Given the description of an element on the screen output the (x, y) to click on. 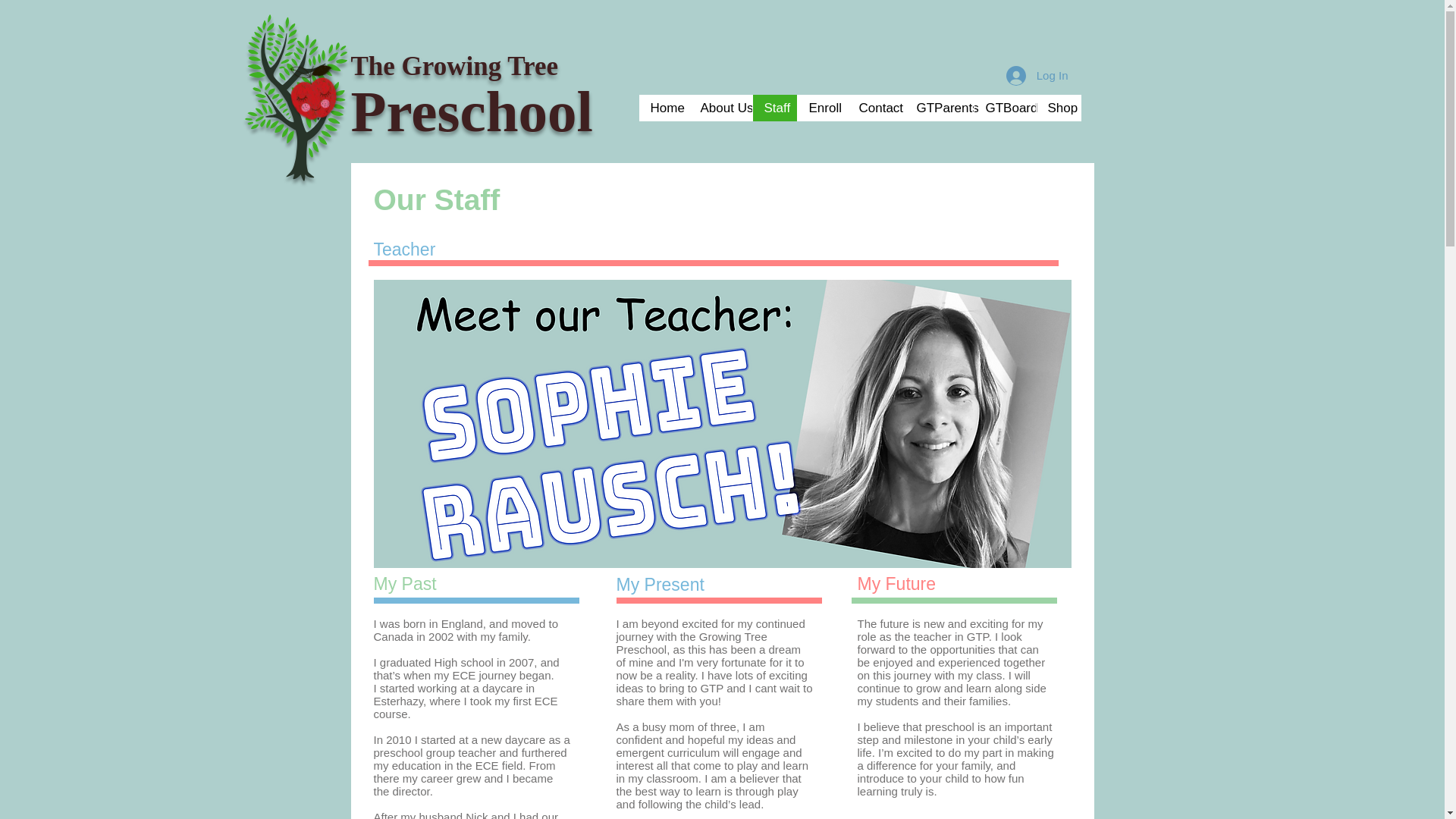
About Us (720, 108)
Enroll (820, 108)
Log In (1036, 74)
The Growing Tree (453, 66)
Preschool (471, 111)
GTParents (938, 108)
Shop (1058, 108)
Home (663, 108)
GTBoard (1004, 108)
Staff (774, 108)
